Given the description of an element on the screen output the (x, y) to click on. 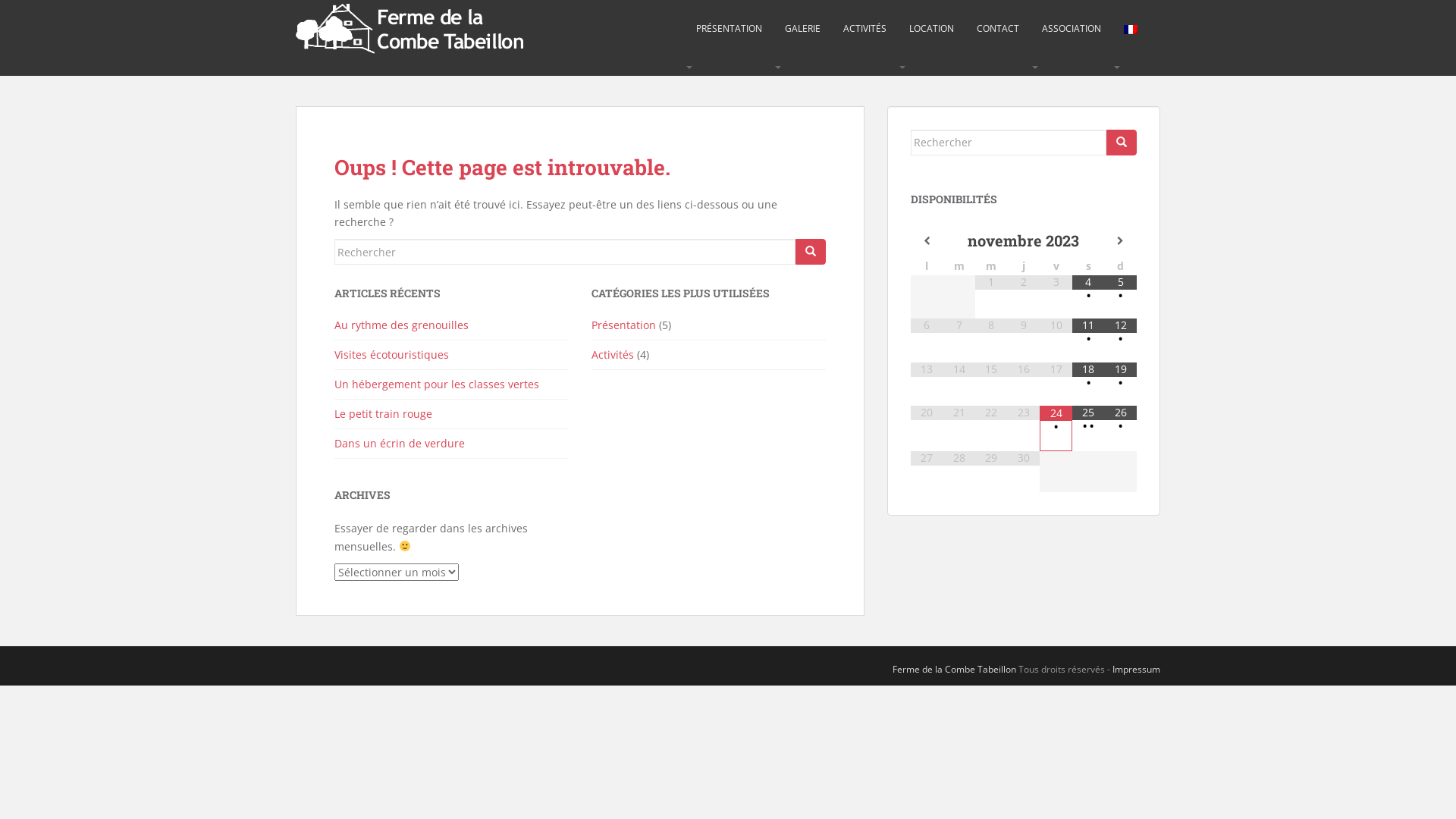
LOCATION Element type: text (931, 28)
Au rythme des grenouilles Element type: text (401, 324)
Rechercher Element type: text (1121, 142)
GALERIE Element type: text (802, 28)
Le petit train rouge Element type: text (383, 413)
Rechercher... Element type: hover (564, 251)
Ferme de la Combe Tabeillon Element type: text (954, 668)
Rechercher Element type: text (810, 251)
ASSOCIATION Element type: text (1071, 28)
Impressum Element type: text (1136, 668)
CONTACT Element type: text (997, 28)
Rechercher... Element type: hover (1008, 142)
Mois suivant Element type: hover (1120, 240)
